Given the description of an element on the screen output the (x, y) to click on. 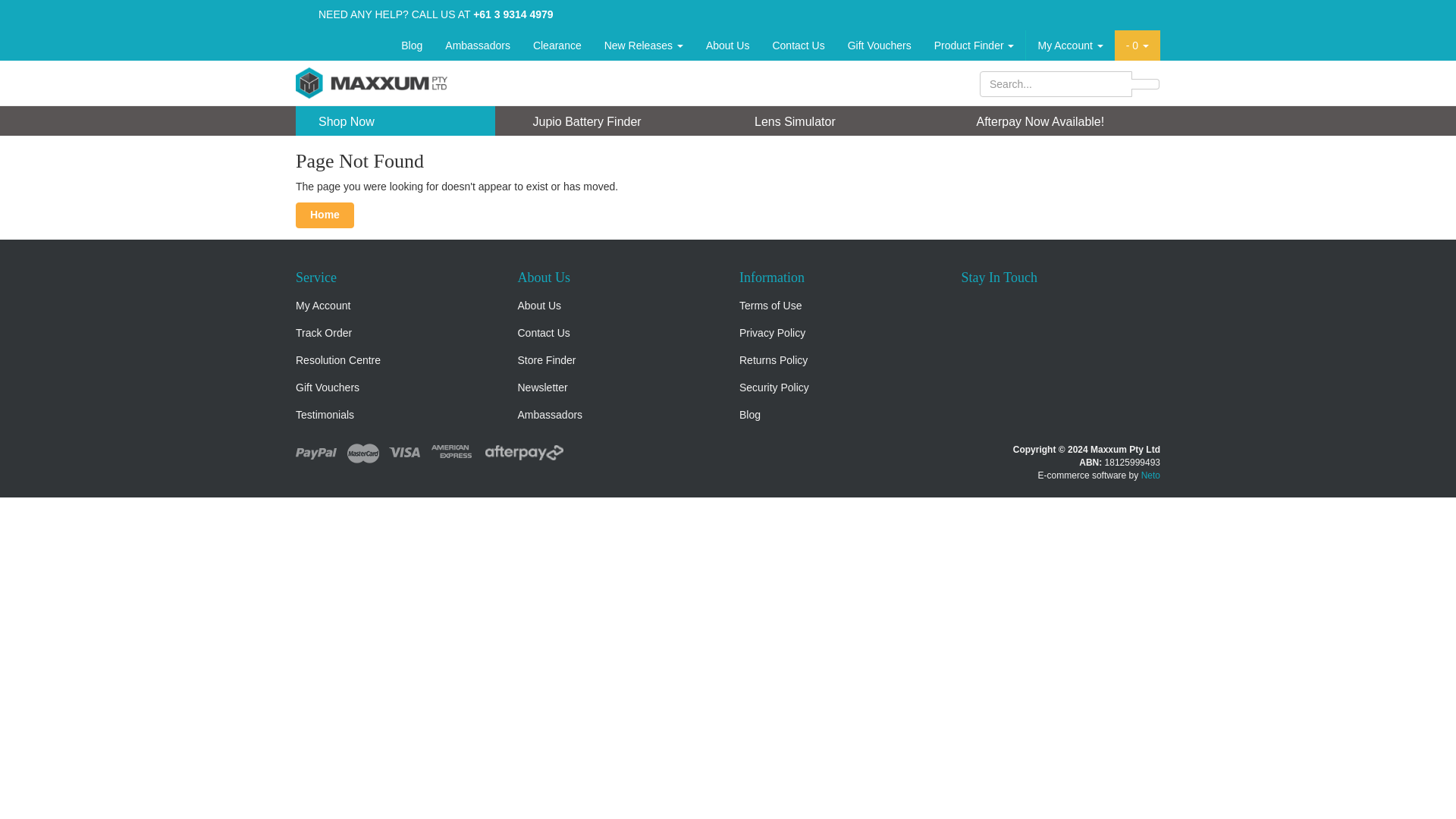
- 0 (1137, 45)
Blog (411, 45)
Clearance (556, 45)
Ambassadors (477, 45)
Maxxum Pty Ltd (370, 81)
Home Page (324, 215)
Gift Vouchers (879, 45)
Contact Us (797, 45)
About Us (727, 45)
Product Finder (974, 45)
